Given the description of an element on the screen output the (x, y) to click on. 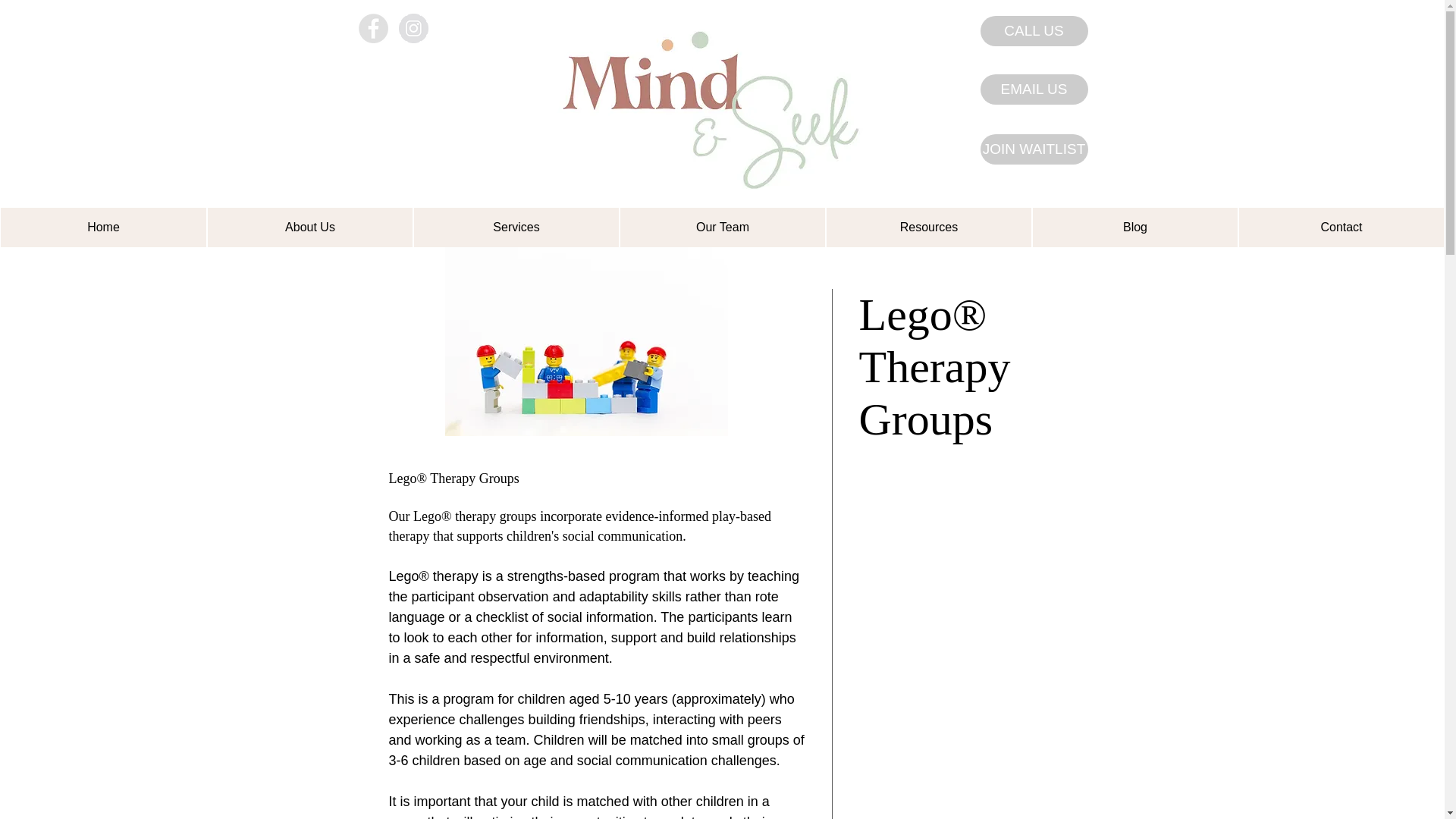
About Us (310, 227)
Resources (928, 227)
Our Team (722, 227)
CALL US (1033, 30)
JOIN WAITLIST (1033, 149)
Home (103, 227)
EMAIL US (1033, 89)
